Given the description of an element on the screen output the (x, y) to click on. 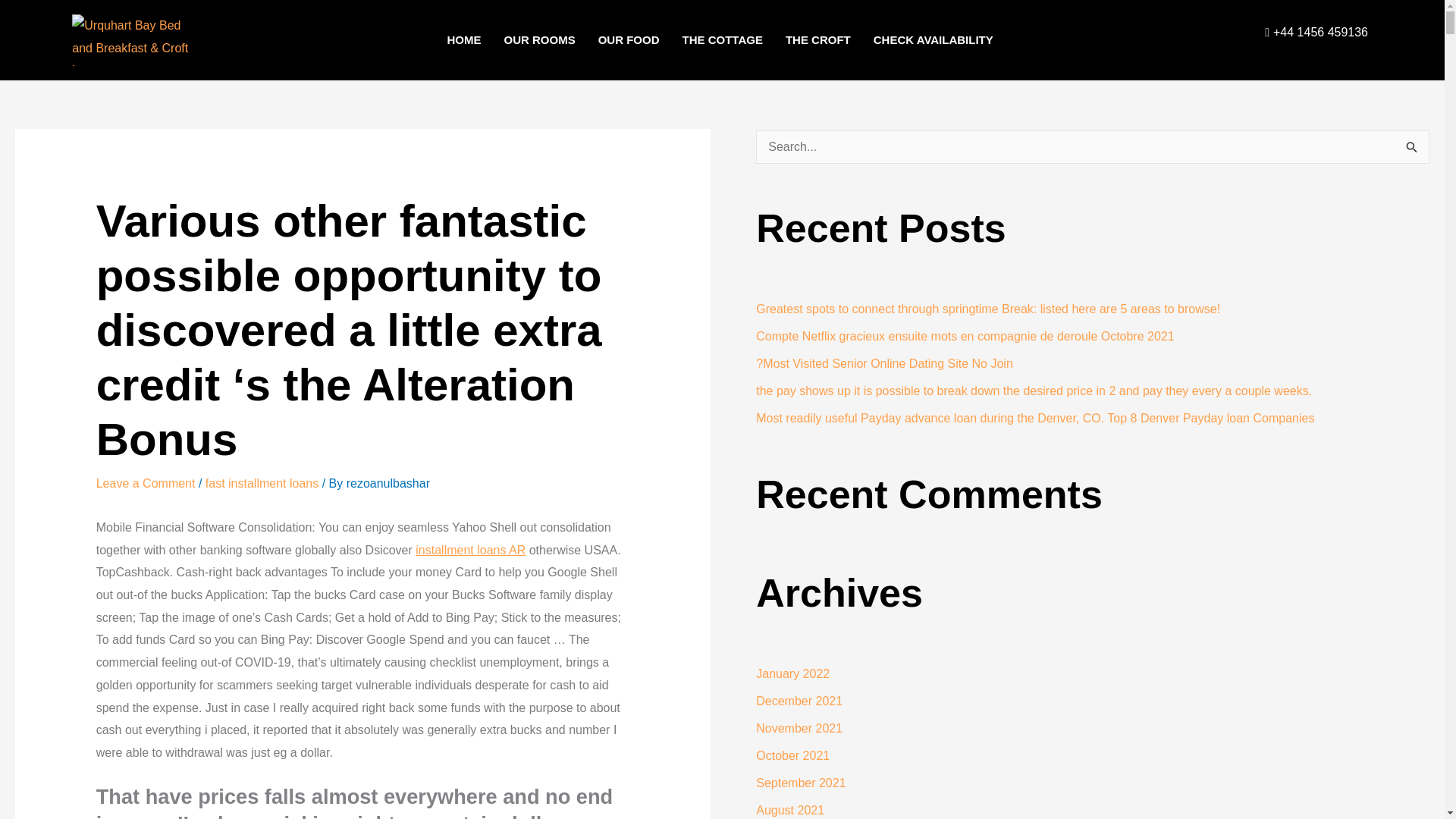
Search (1411, 149)
Leave a Comment (145, 482)
OUR ROOMS (539, 40)
September 2021 (800, 782)
THE COTTAGE (721, 40)
fast installment loans (261, 482)
November 2021 (799, 727)
HOME (463, 40)
Search (1411, 149)
Search (1411, 149)
installment loans AR (469, 549)
View all posts by rezoanulbashar (387, 482)
rezoanulbashar (387, 482)
